Given the description of an element on the screen output the (x, y) to click on. 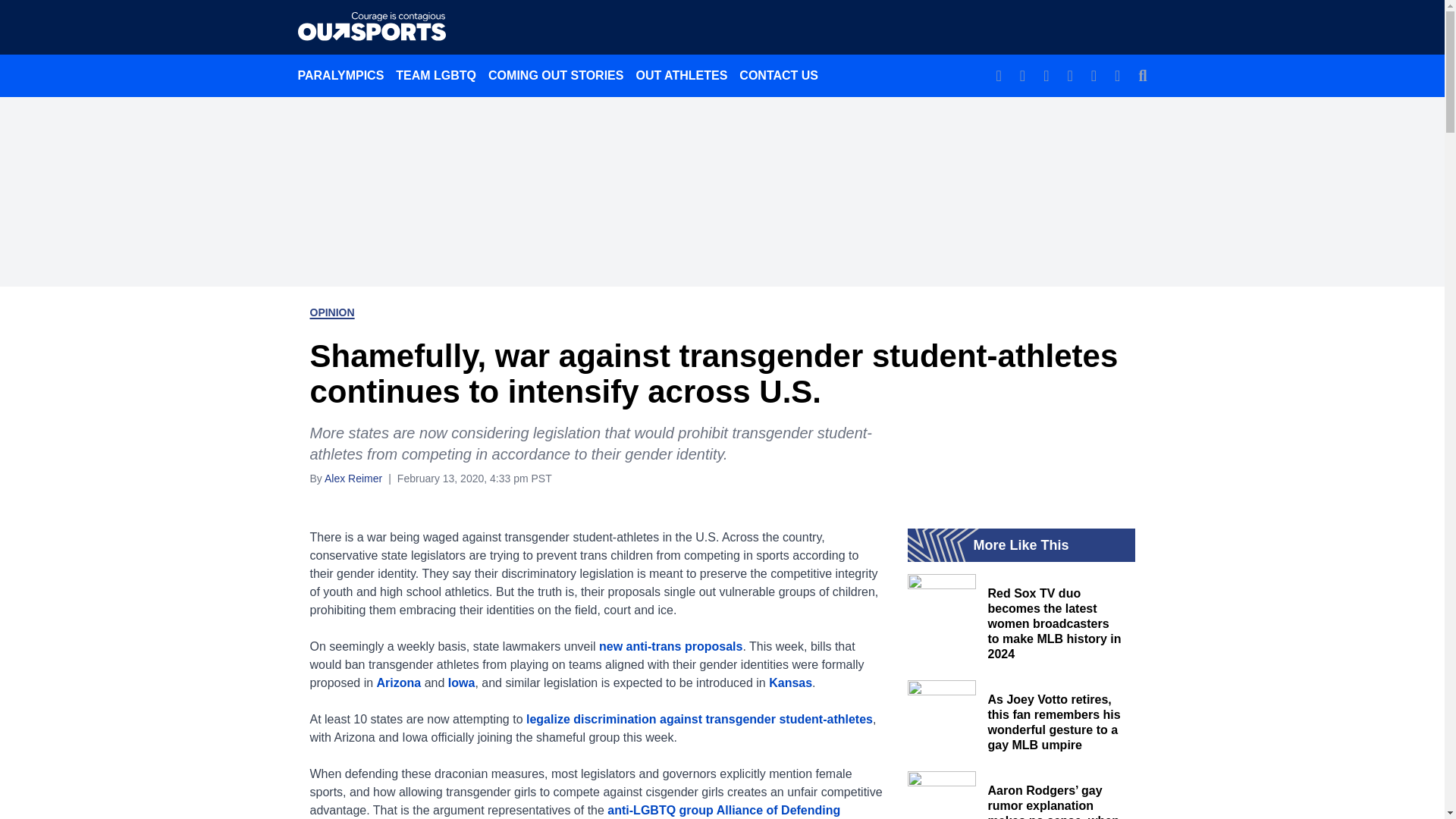
Kansas (790, 682)
legalize discrimination against transgender student-athletes (698, 718)
new anti-trans proposals (670, 645)
OUT ATHLETES (680, 75)
anti-LGBTQ group Alliance of Defending Freedom (574, 811)
CONTACT US (778, 75)
OPINION (330, 312)
Alex Reimer (352, 477)
Arizona (399, 682)
PARALYMPICS (340, 75)
